Given the description of an element on the screen output the (x, y) to click on. 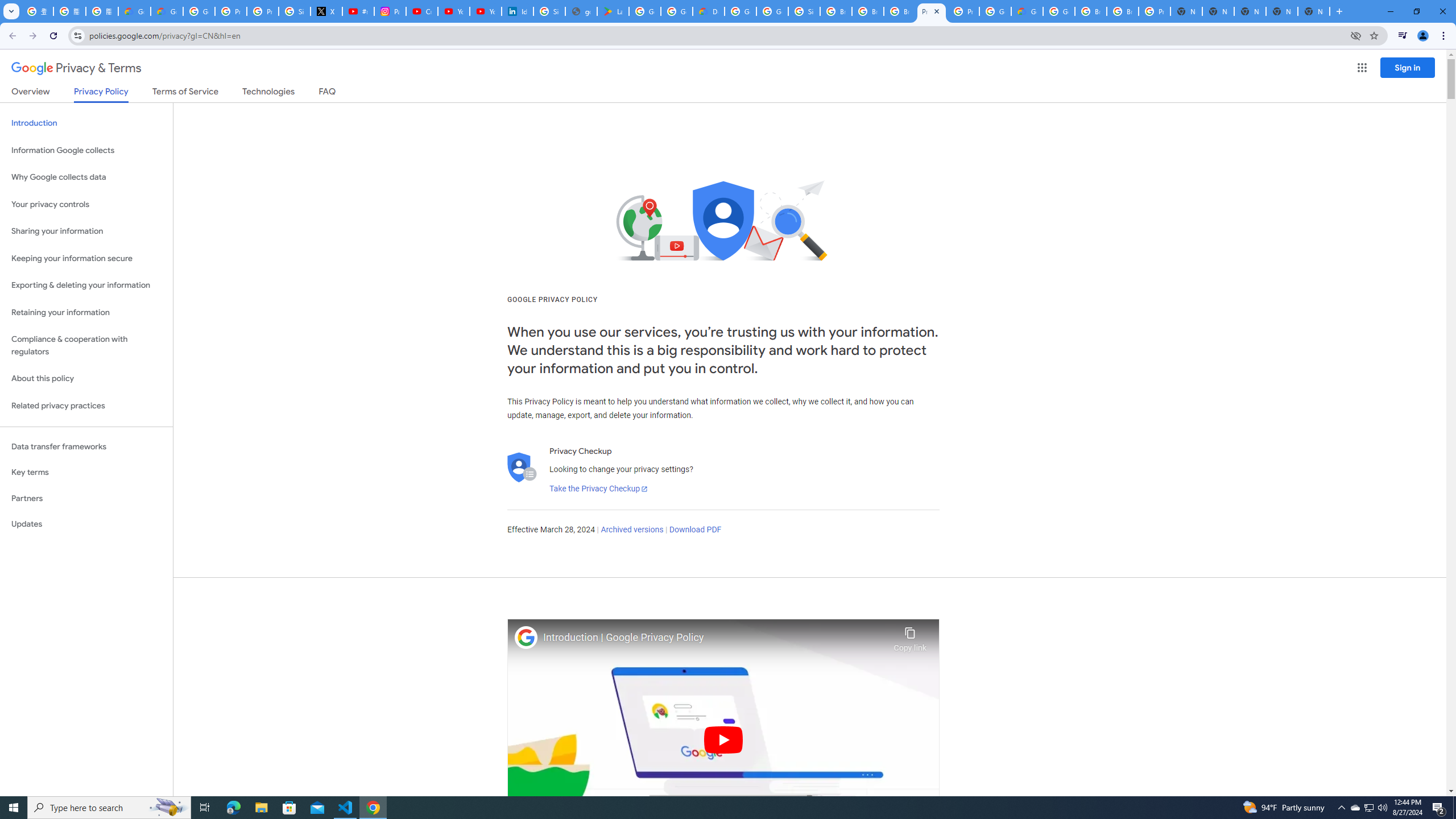
Google Cloud Privacy Notice (166, 11)
Sign in - Google Accounts (294, 11)
Exporting & deleting your information (86, 284)
Introduction (86, 122)
New Tab (1313, 11)
Browse Chrome as a guest - Computer - Google Chrome Help (1091, 11)
Photo image of Google (526, 636)
Download PDF (695, 529)
Technologies (268, 93)
